Given the description of an element on the screen output the (x, y) to click on. 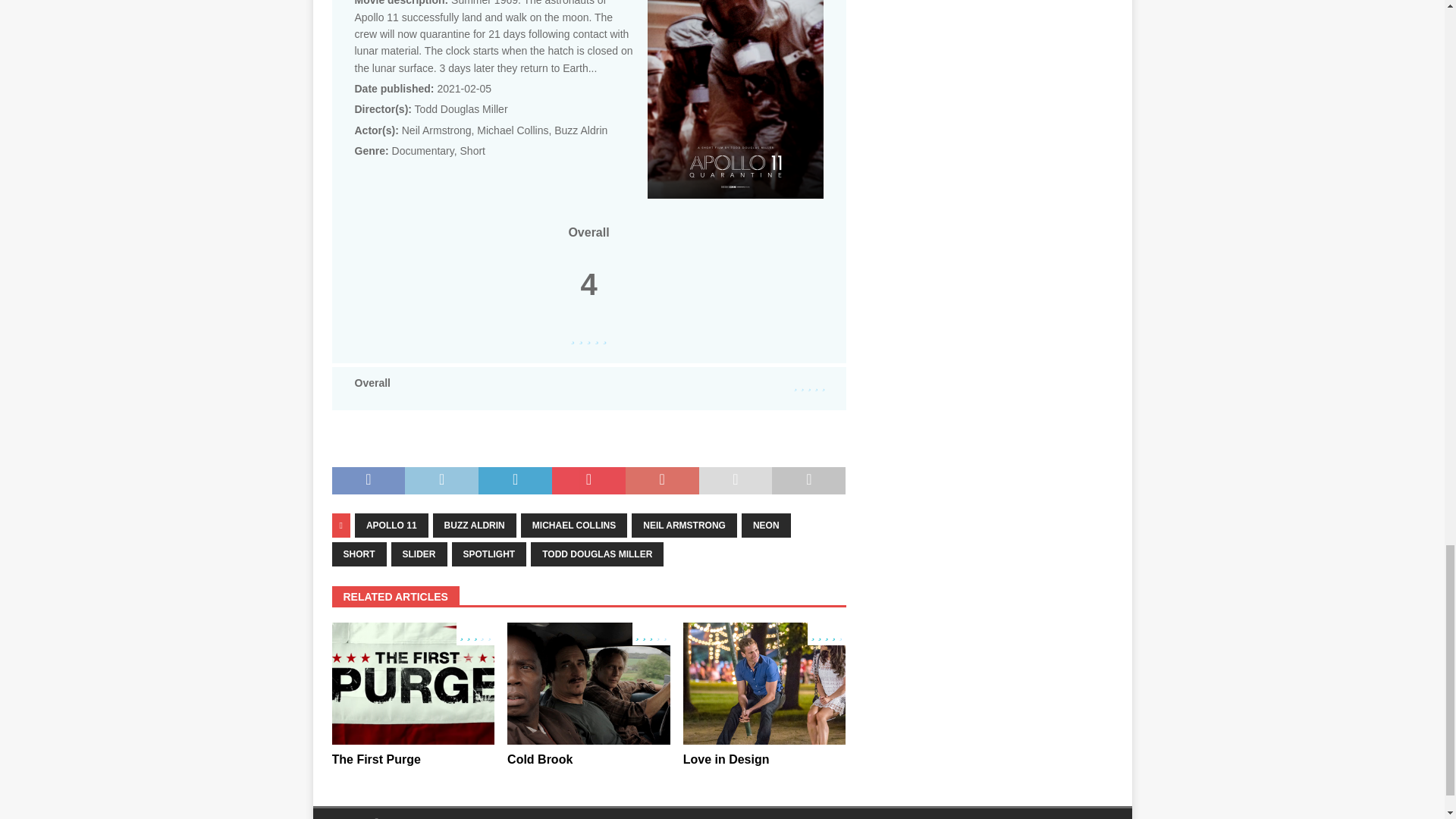
BUZZ ALDRIN (474, 525)
APOLLO 11 (391, 525)
MICHAEL COLLINS (574, 525)
NEIL ARMSTRONG (683, 525)
NEON (765, 525)
